Given the description of an element on the screen output the (x, y) to click on. 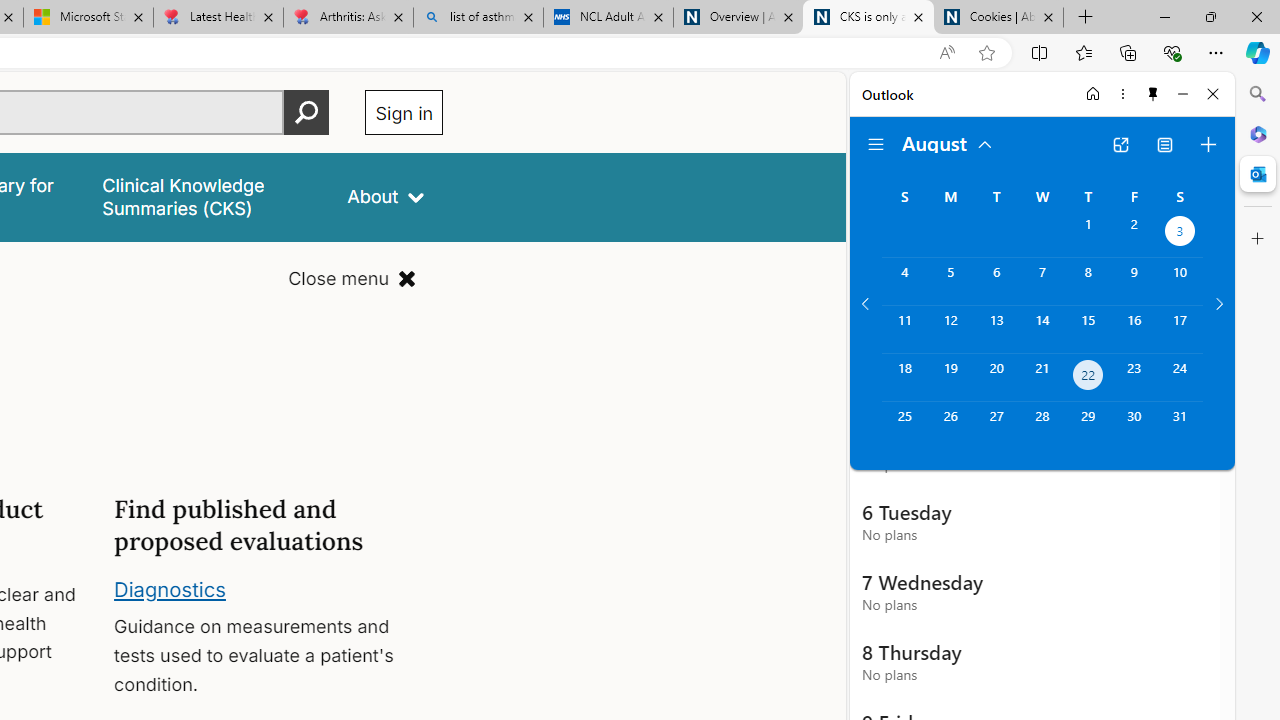
Tuesday, August 6, 2024.  (996, 281)
View Switcher. Current view is Agenda view (1165, 144)
Cookies | About | NICE (998, 17)
Monday, August 12, 2024.  (950, 329)
Sunday, August 4, 2024.  (904, 281)
Sunday, August 25, 2024.  (904, 425)
Tuesday, August 13, 2024.  (996, 329)
About (386, 196)
Tuesday, August 27, 2024.  (996, 425)
Saturday, August 17, 2024.  (1180, 329)
August (948, 141)
